Given the description of an element on the screen output the (x, y) to click on. 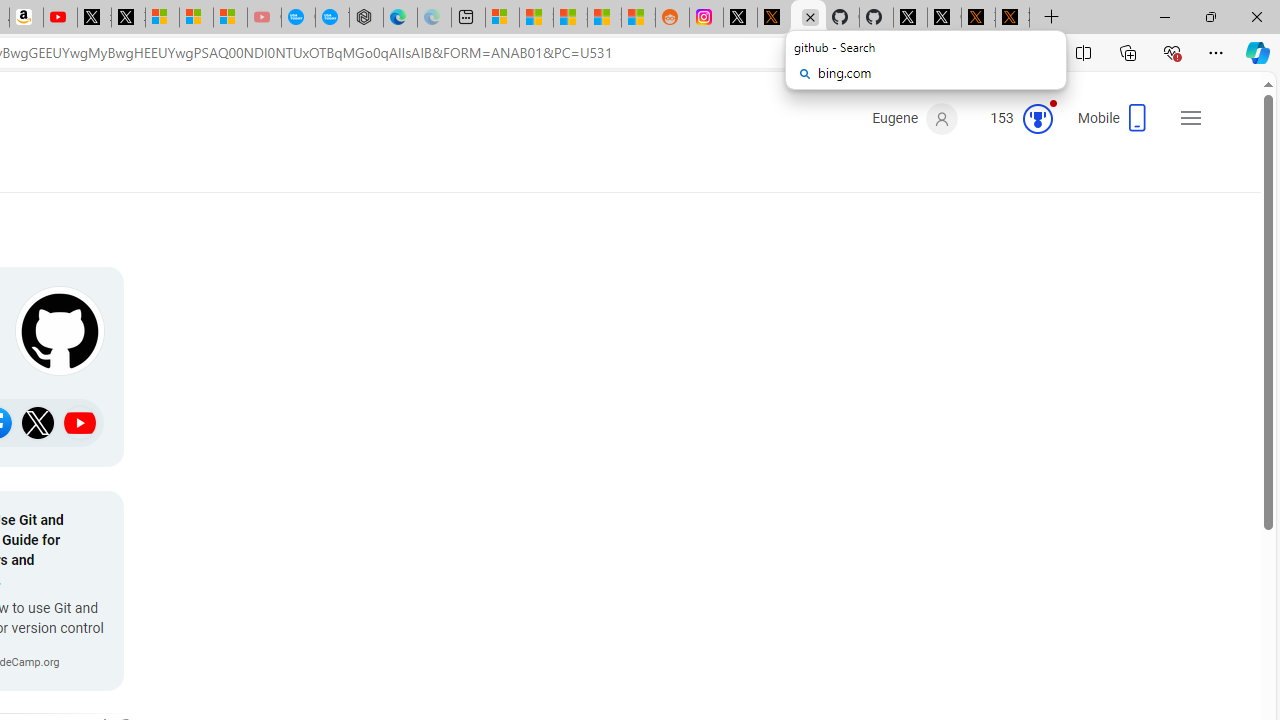
Day 1: Arriving in Yemen (surreal to be here) - YouTube (59, 17)
Minimize (1164, 16)
Collections (1128, 52)
Shanghai, China hourly forecast | Microsoft Weather (570, 17)
New Tab (1052, 17)
Class: b_sitlk (80, 422)
help.x.com | 524: A timeout occurred (774, 17)
Add this page to favorites (Ctrl+D) (1030, 53)
Nordace - Nordace has arrived Hong Kong (365, 17)
Restore (1210, 16)
github - Search (808, 17)
Profile / X (909, 17)
